Given the description of an element on the screen output the (x, y) to click on. 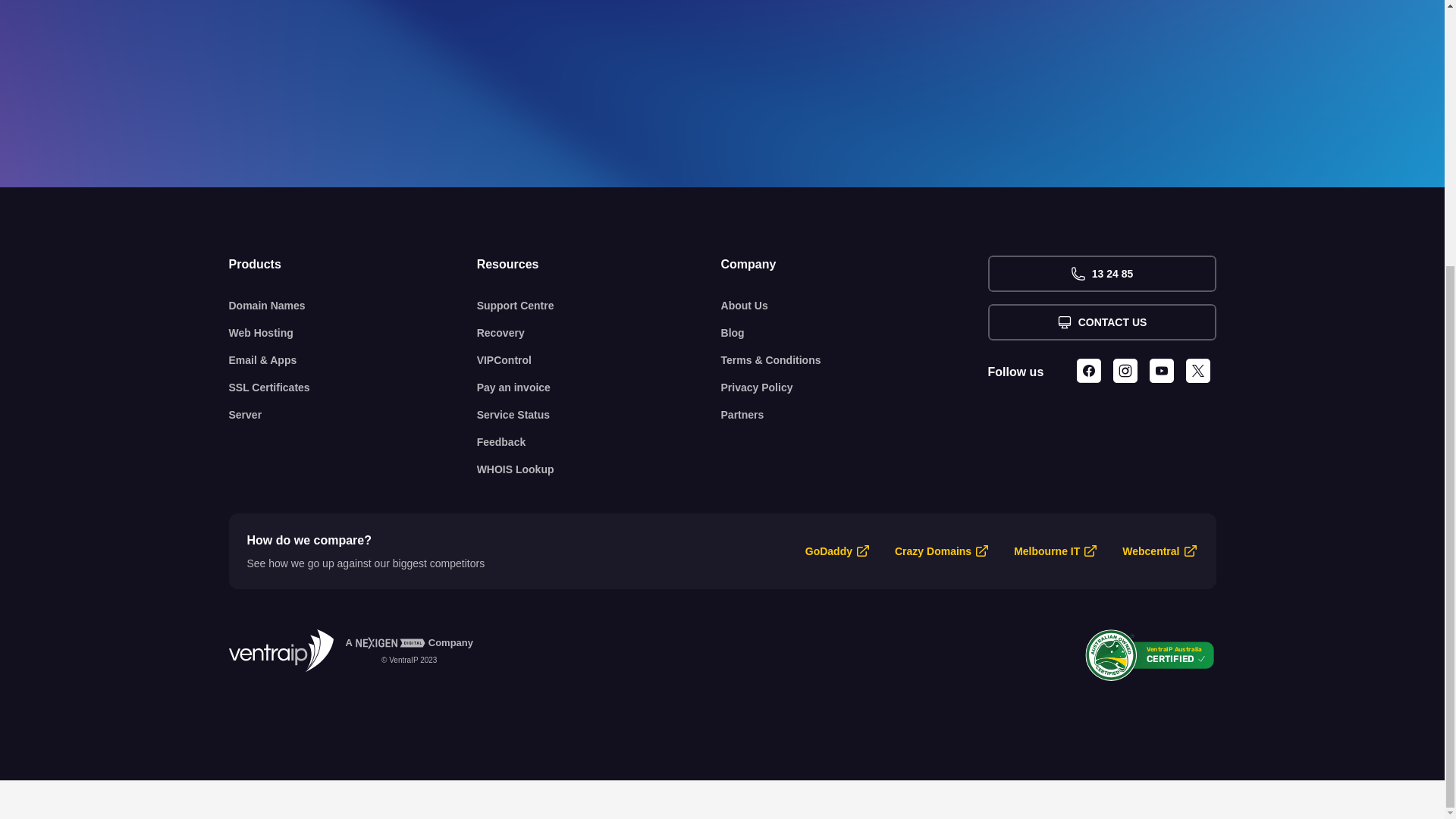
Blog (854, 332)
13 24 85 (1101, 273)
Recovery (598, 332)
SSL Certificates (352, 387)
Pay an invoice (598, 387)
Melbourne IT (1046, 550)
Server (352, 414)
Webcentral (1150, 550)
CONTACT US (1101, 321)
VIPControl (598, 359)
